Given the description of an element on the screen output the (x, y) to click on. 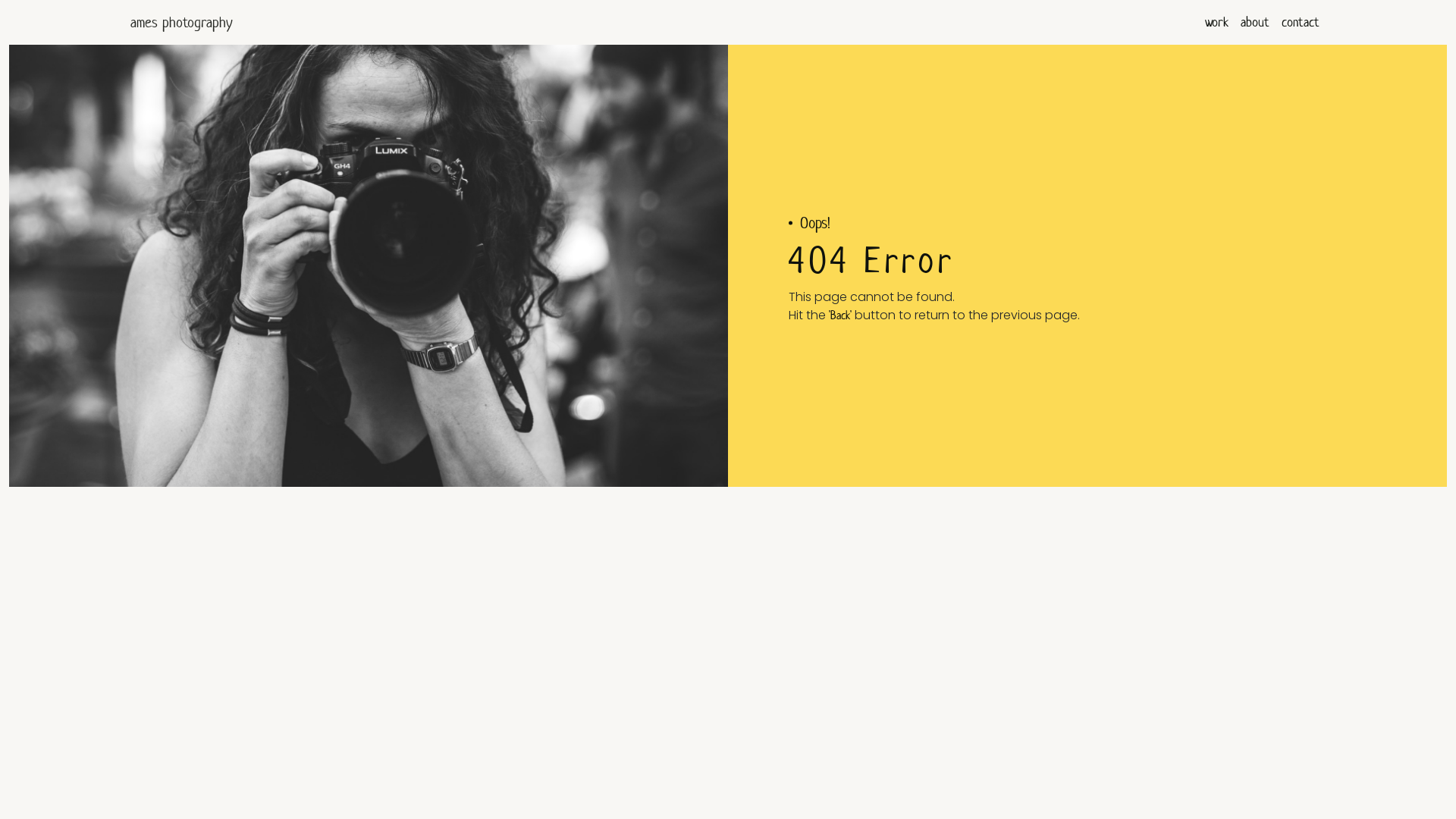
contact Element type: text (1300, 22)
'Back' Element type: text (839, 315)
ames photography Element type: text (181, 22)
work Element type: text (1216, 22)
about Element type: text (1254, 22)
